Given the description of an element on the screen output the (x, y) to click on. 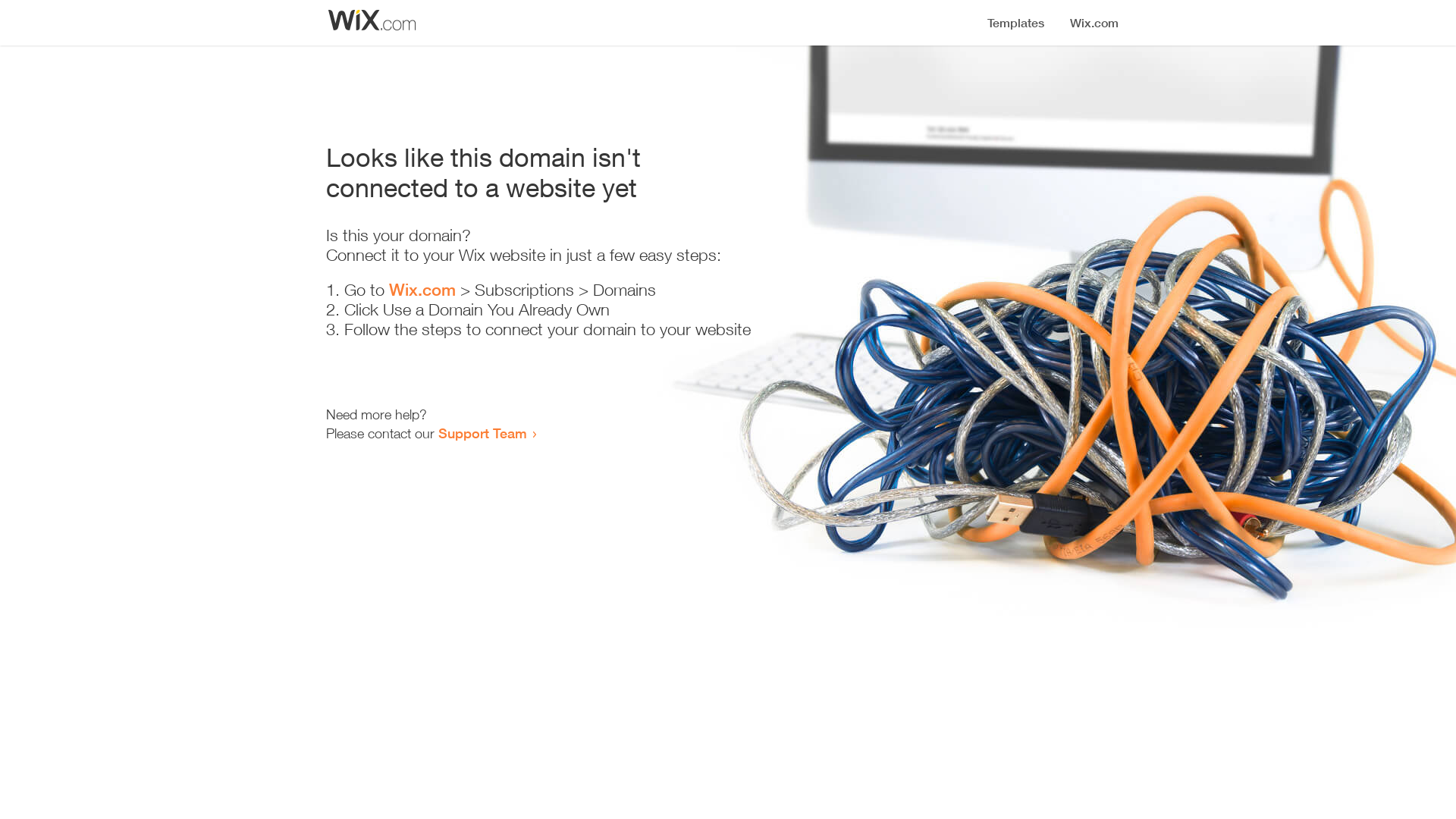
Wix.com Element type: text (422, 289)
Support Team Element type: text (482, 432)
